Given the description of an element on the screen output the (x, y) to click on. 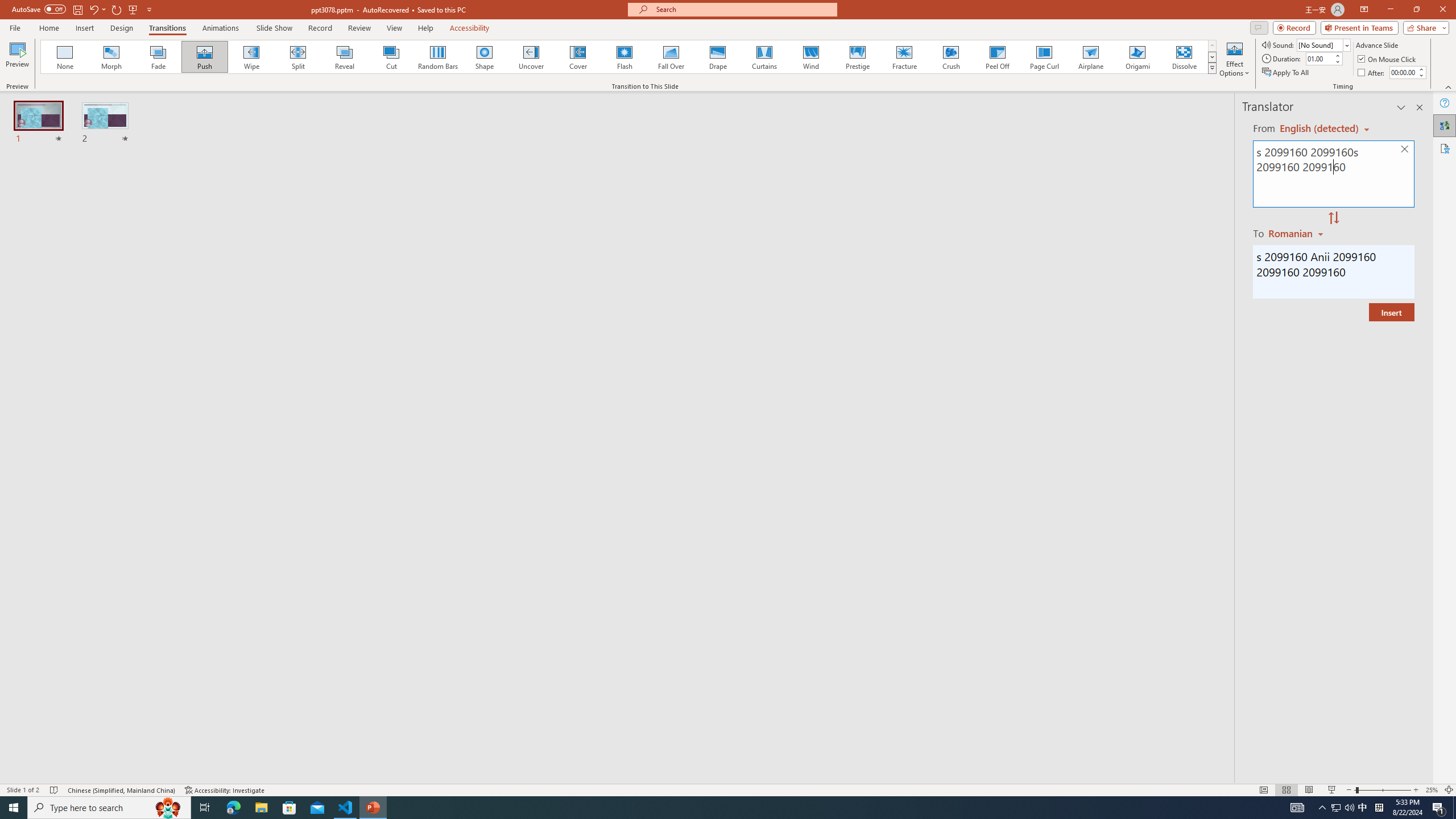
On Mouse Click (1387, 58)
Crush (950, 56)
Duration (1319, 58)
Zoom 25% (1431, 790)
